Given the description of an element on the screen output the (x, y) to click on. 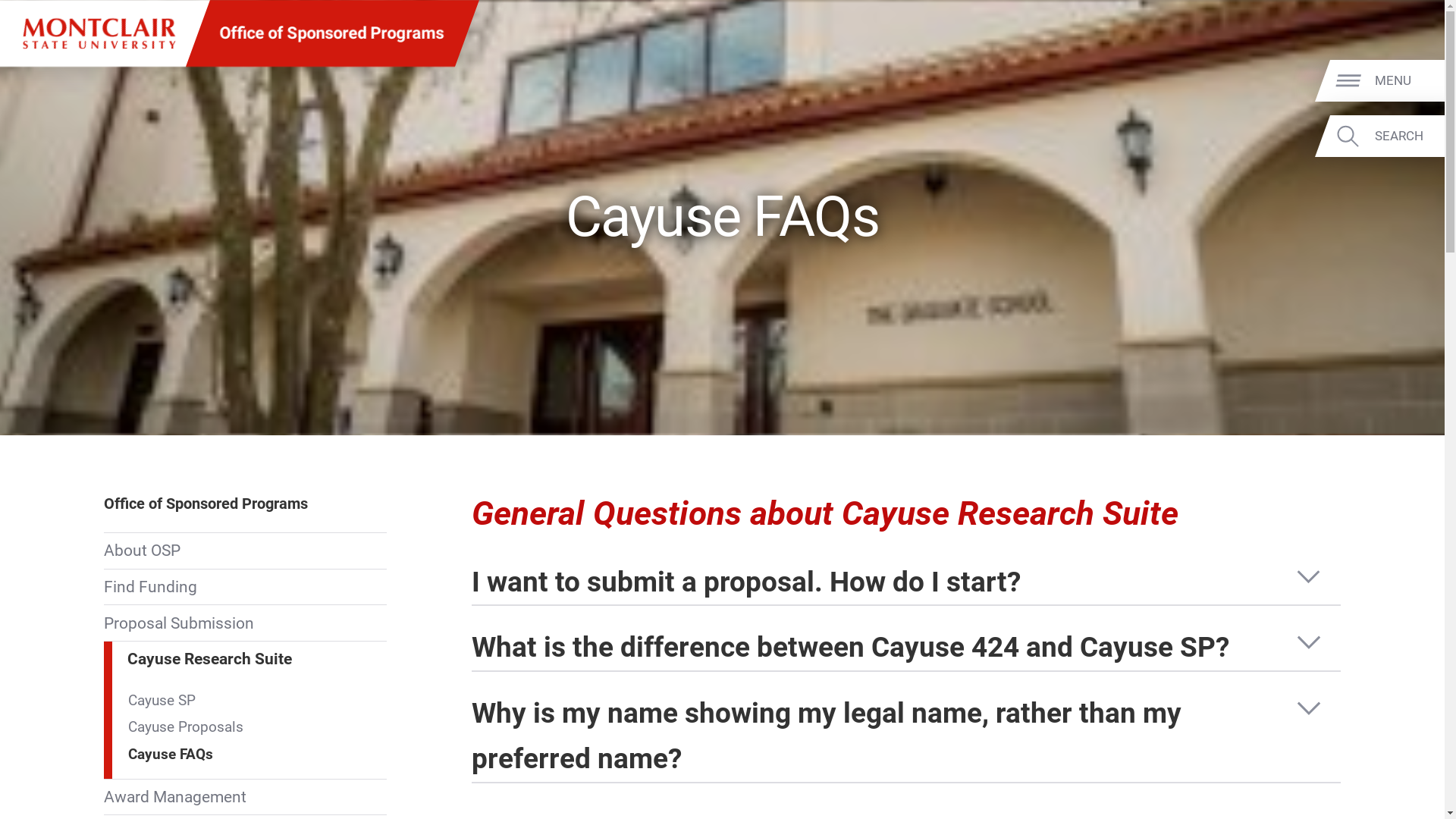
MENU (1406, 81)
SEARCH (1406, 135)
Office of Sponsored Programs (331, 33)
